Given the description of an element on the screen output the (x, y) to click on. 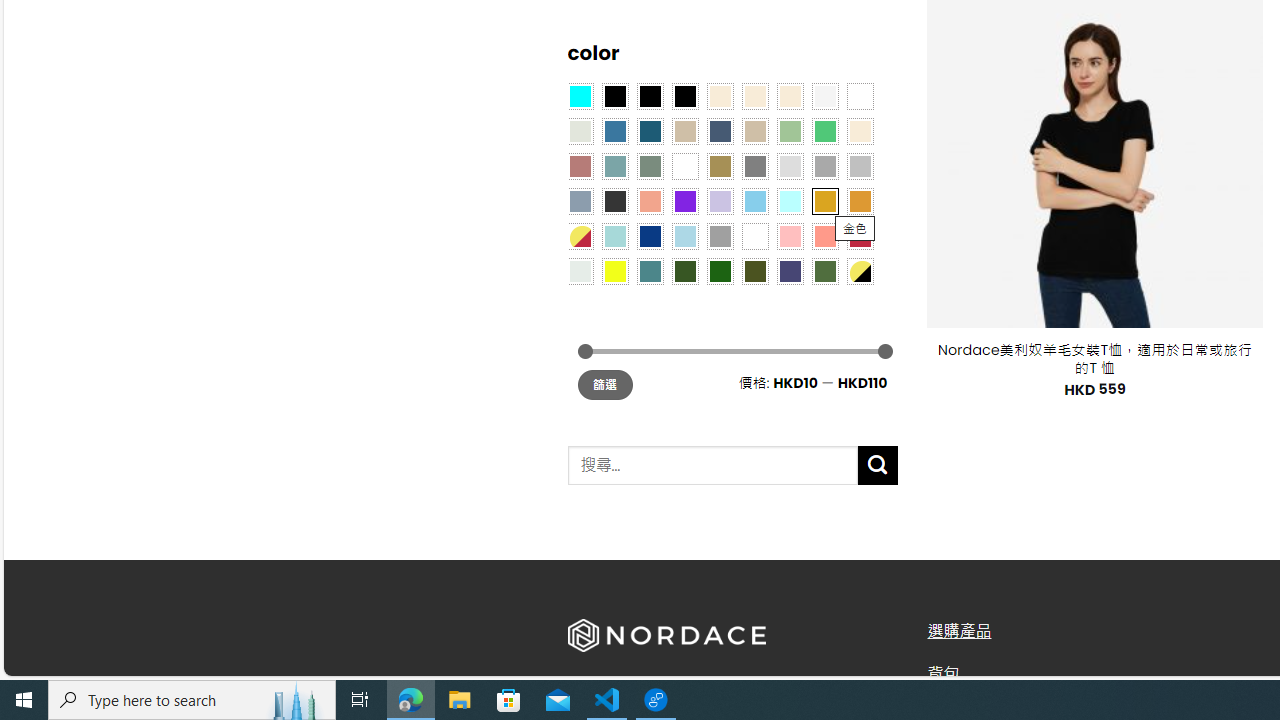
Dull Nickle (579, 270)
